Given the description of an element on the screen output the (x, y) to click on. 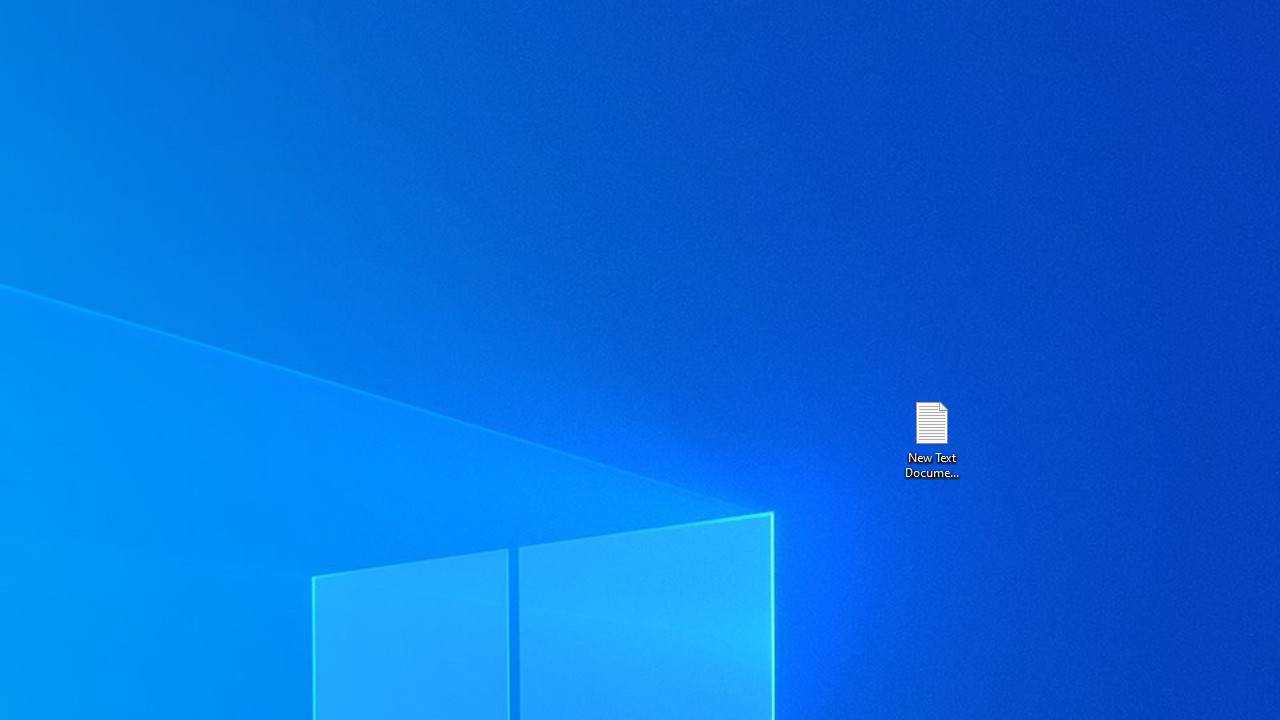
New Text Document (2) (931, 438)
